Given the description of an element on the screen output the (x, y) to click on. 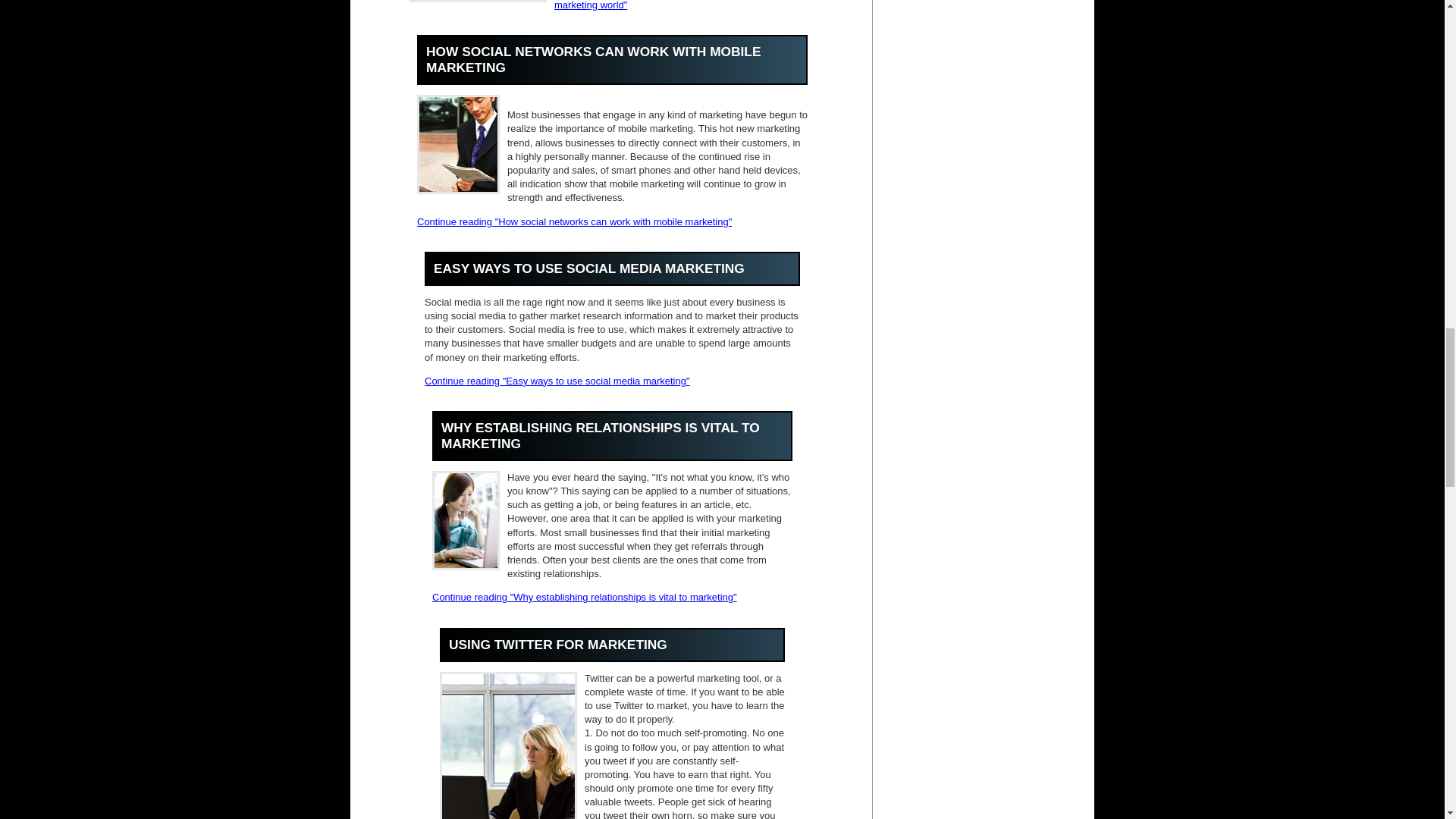
WHY ESTABLISHING RELATIONSHIPS IS VITAL TO MARKETING (600, 435)
EASY WAYS TO USE SOCIAL MEDIA MARKETING (588, 268)
USING TWITTER FOR MARKETING (557, 644)
Continue reading "Easy ways to use social media marketing" (557, 380)
HOW SOCIAL NETWORKS CAN WORK WITH MOBILE MARKETING (593, 59)
